Given the description of an element on the screen output the (x, y) to click on. 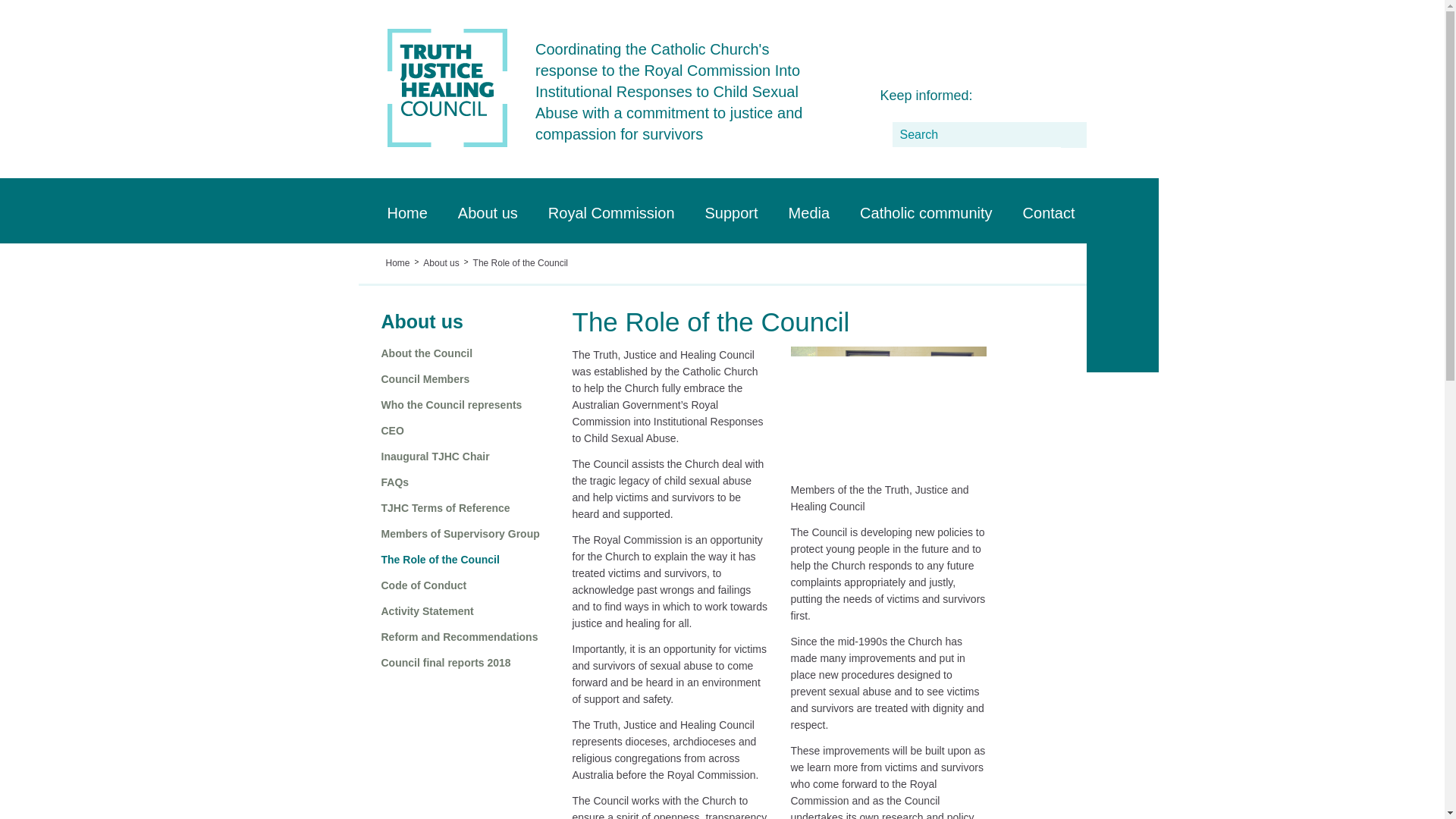
GO (1072, 134)
Truth, Justice, Healing council (446, 144)
Royal Commission (611, 210)
Support (731, 210)
About us (487, 210)
Subscribe for Updates (996, 93)
GO (1072, 134)
Home (406, 210)
Search (975, 133)
Media (808, 210)
